Given the description of an element on the screen output the (x, y) to click on. 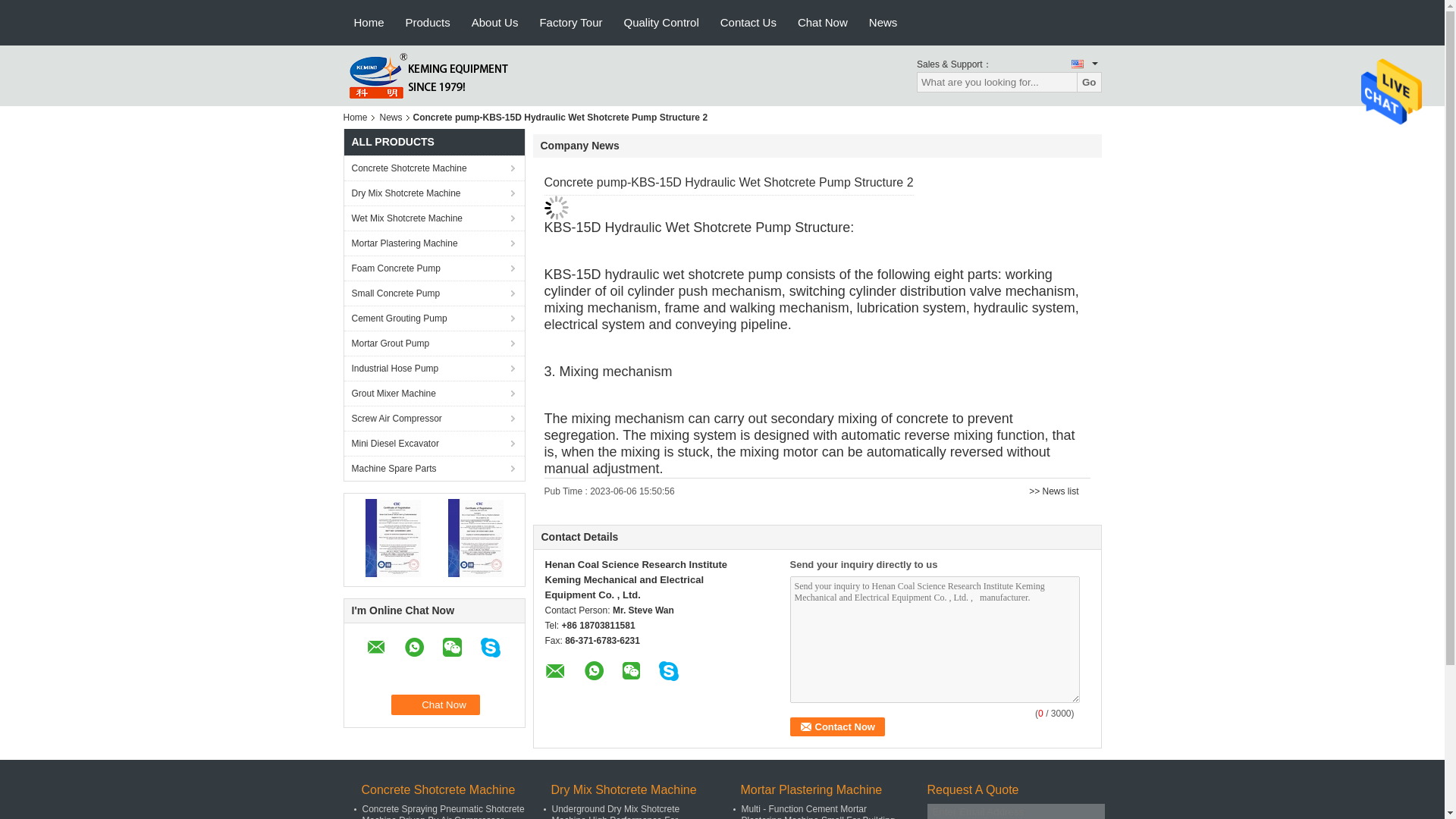
News (883, 22)
Chat Now (435, 704)
Foam Concrete Pump (433, 267)
Home (368, 22)
About Us (495, 22)
Products (427, 22)
Cement Grouting Pump (433, 317)
Contact Us (748, 22)
Dry Mix Shotcrete Machine (433, 192)
Factory Tour (570, 22)
Small Concrete Pump (433, 292)
Home (357, 117)
Wet Mix Shotcrete Machine (433, 217)
Mortar Plastering Machine (433, 242)
